Given the description of an element on the screen output the (x, y) to click on. 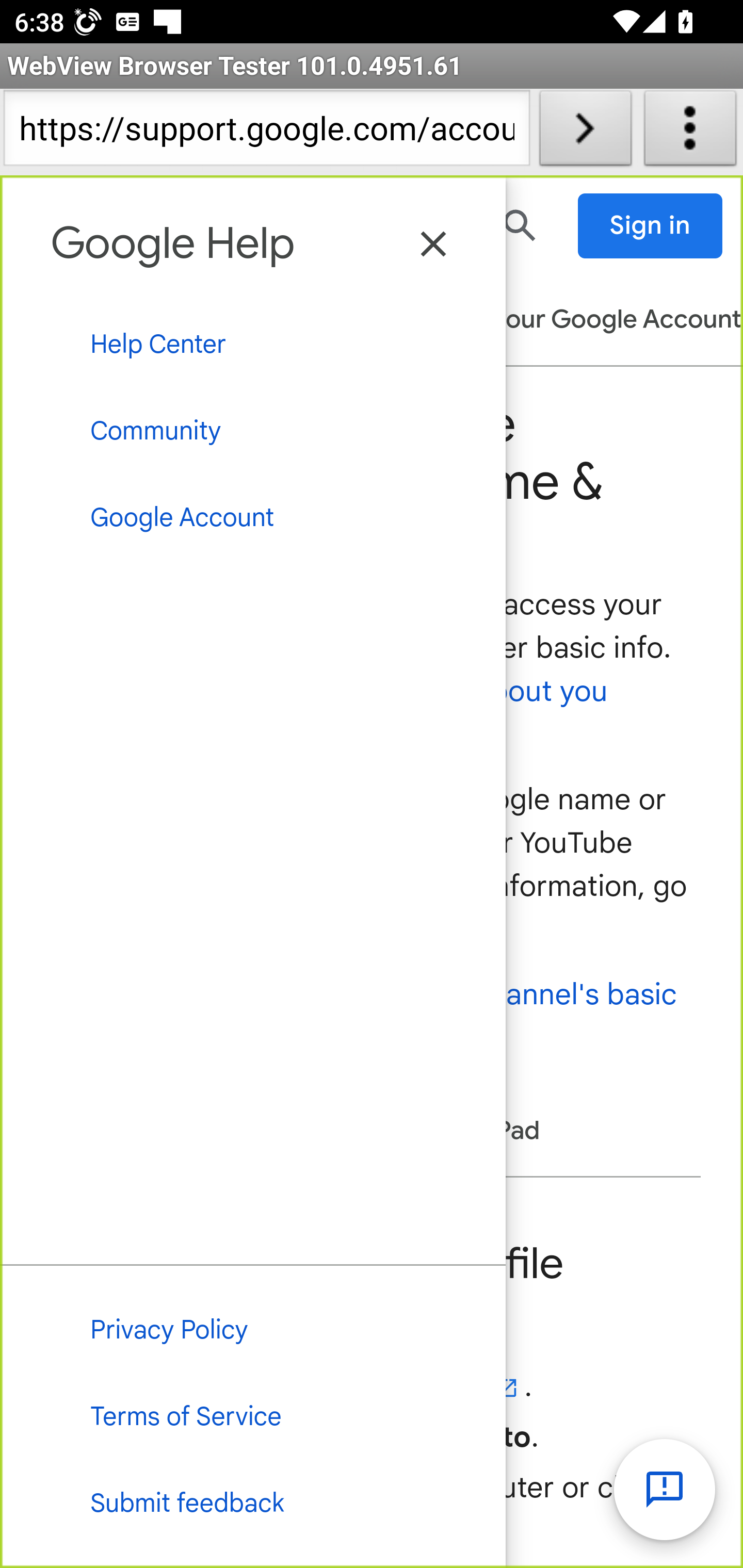
Load URL (585, 132)
About WebView (690, 132)
Google Help (173, 242)
Close menu (433, 244)
Help Center (252, 344)
Community (252, 430)
Google Account (252, 517)
Privacy Policy (252, 1330)
Terms of Service (252, 1417)
Submit feedback (252, 1505)
